Given the description of an element on the screen output the (x, y) to click on. 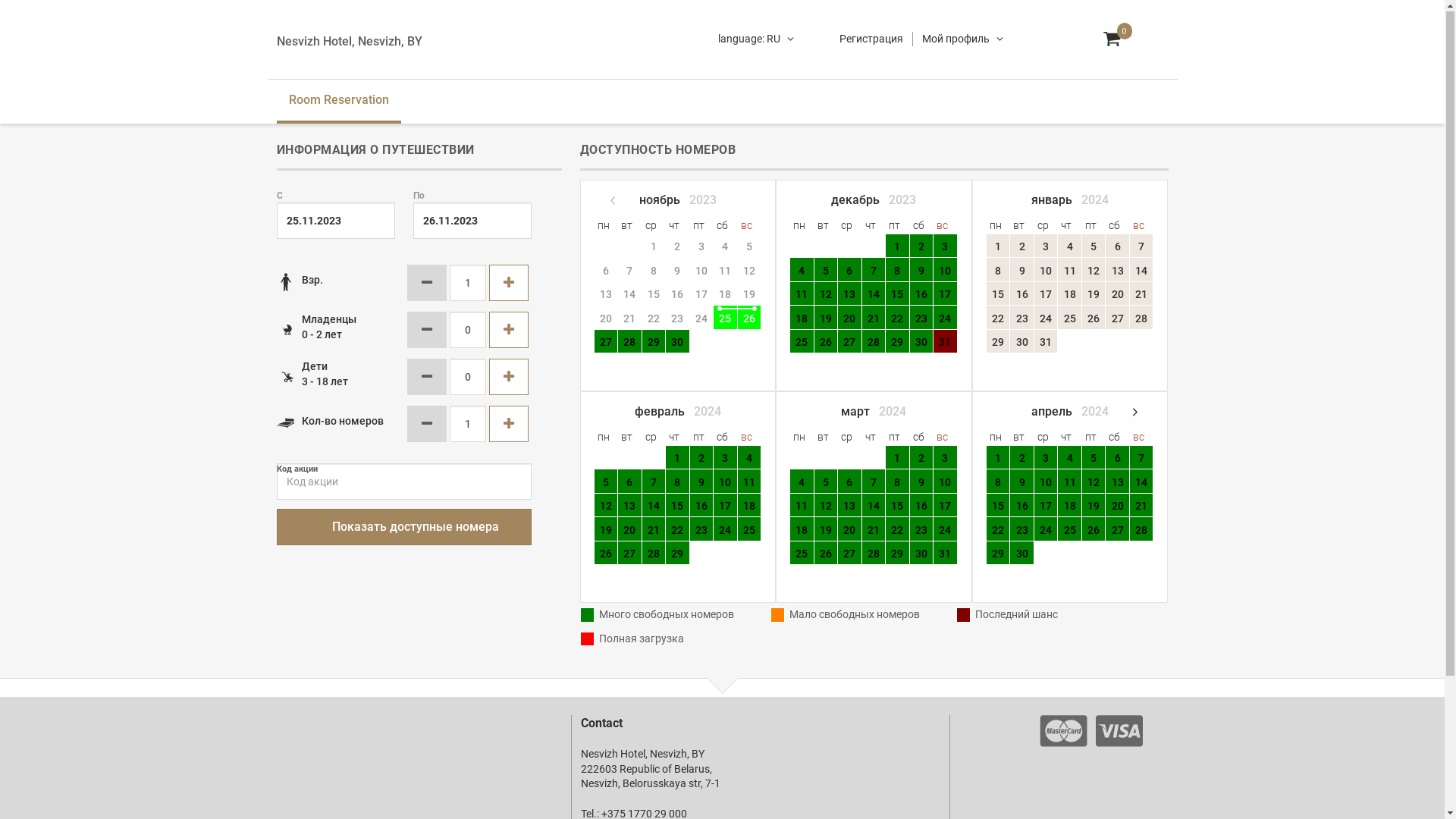
Room Reservation Element type: text (338, 102)
Nesvizh Hotel, Nesvizh, BY Element type: text (348, 41)
